Given the description of an element on the screen output the (x, y) to click on. 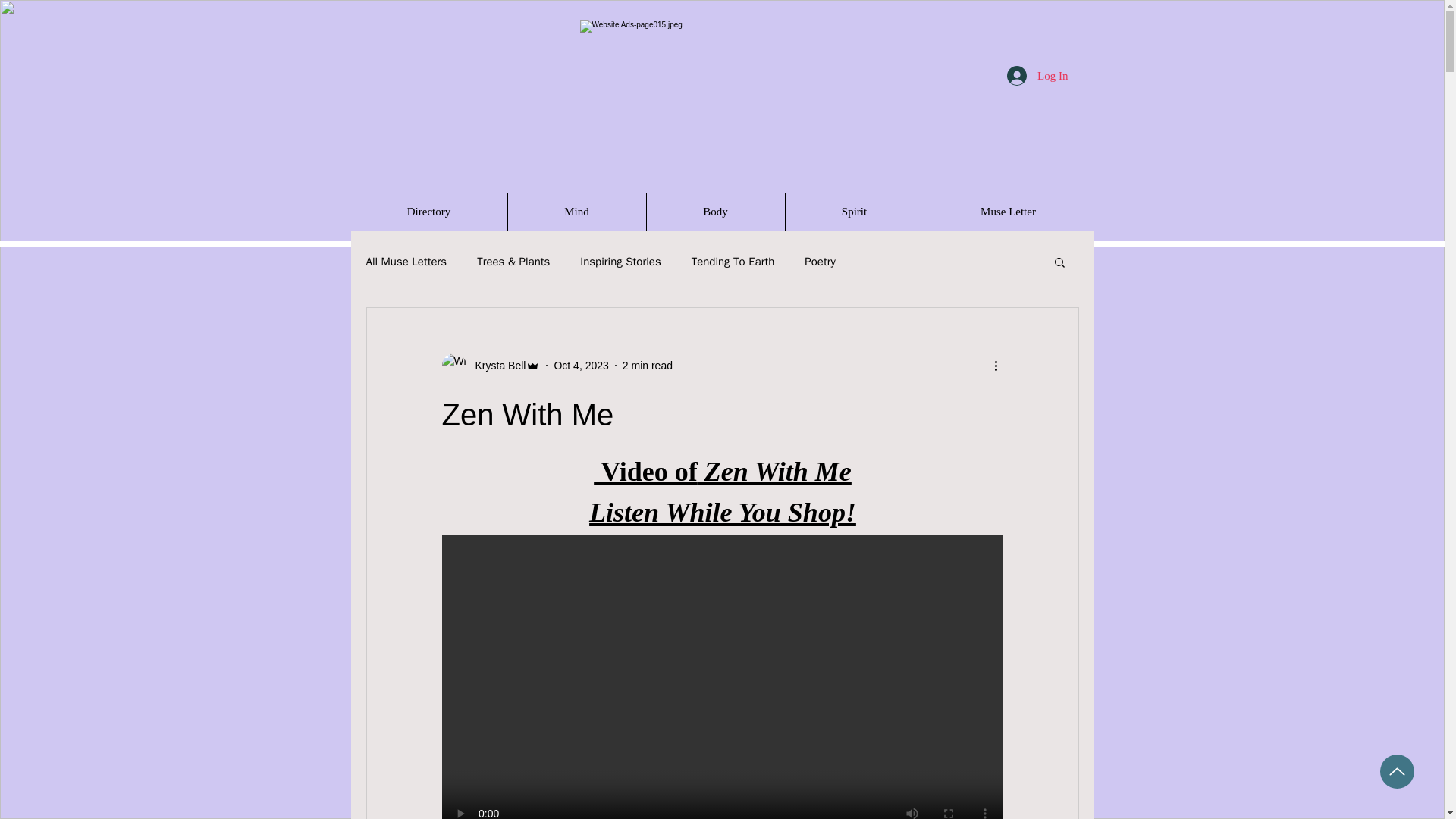
Body (715, 211)
Krysta Bell (490, 364)
Log In (1036, 75)
2 min read (647, 365)
Krysta Bell (495, 365)
Inspiring Stories (620, 261)
Tending To Earth (732, 261)
Directory (428, 211)
Poetry (819, 261)
All Muse Letters (405, 261)
Spirit (854, 211)
Muse Letter (1007, 211)
Mind (577, 211)
Oct 4, 2023 (580, 365)
